Given the description of an element on the screen output the (x, y) to click on. 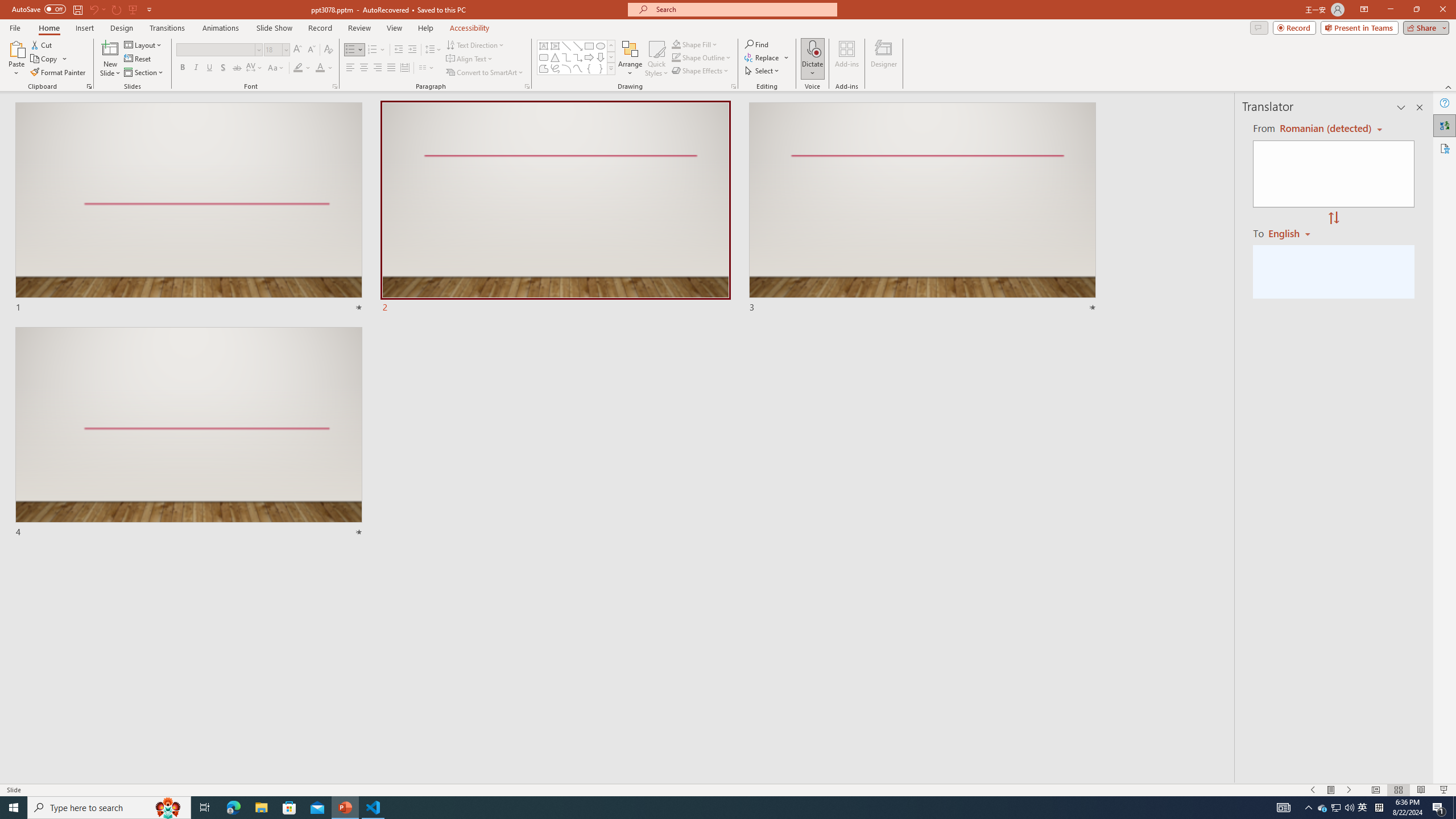
Shape Outline Green, Accent 1 (675, 56)
